Given the description of an element on the screen output the (x, y) to click on. 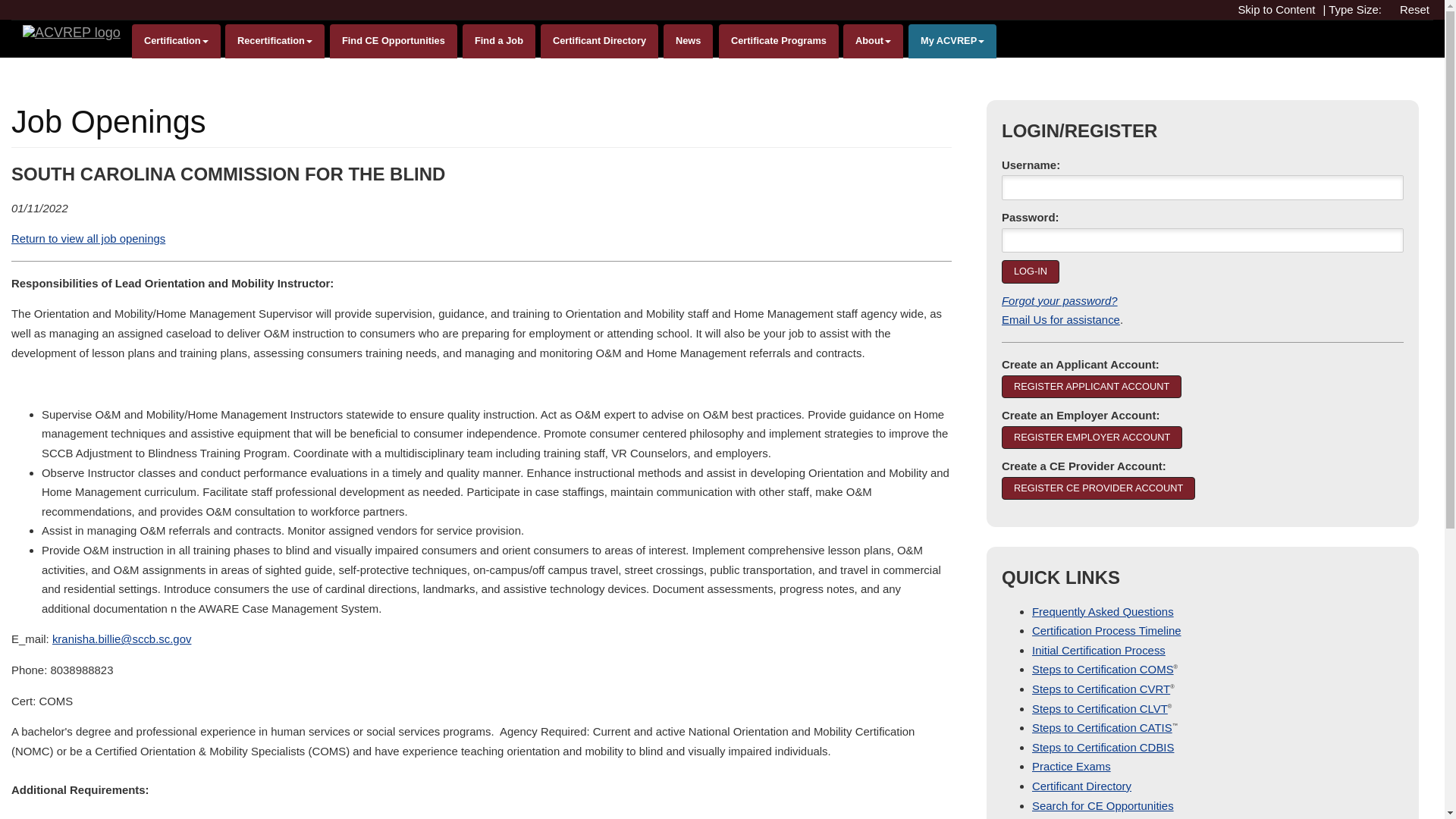
Reset (1418, 9)
Register Applicant Account (1090, 386)
reset type size (1418, 9)
Certification (176, 41)
Skip to Content (1279, 9)
Register CE Provider Account (1098, 487)
Log-In (1030, 271)
Recertification (274, 41)
About (872, 41)
Register Employer Account (1091, 436)
